Given the description of an element on the screen output the (x, y) to click on. 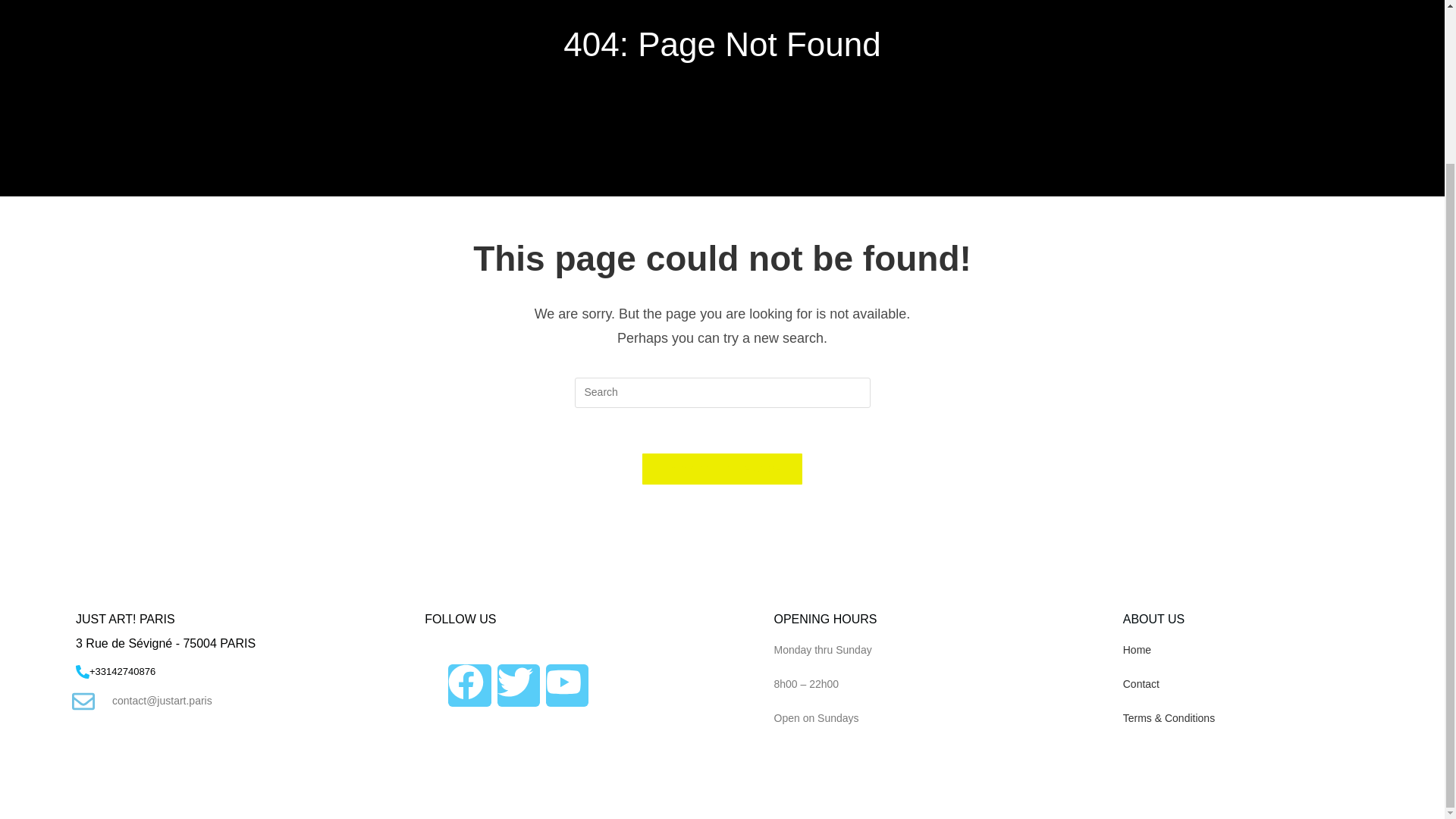
BACK TO HOMEPAGE (722, 468)
Contact (1140, 684)
Home (1136, 649)
